Given the description of an element on the screen output the (x, y) to click on. 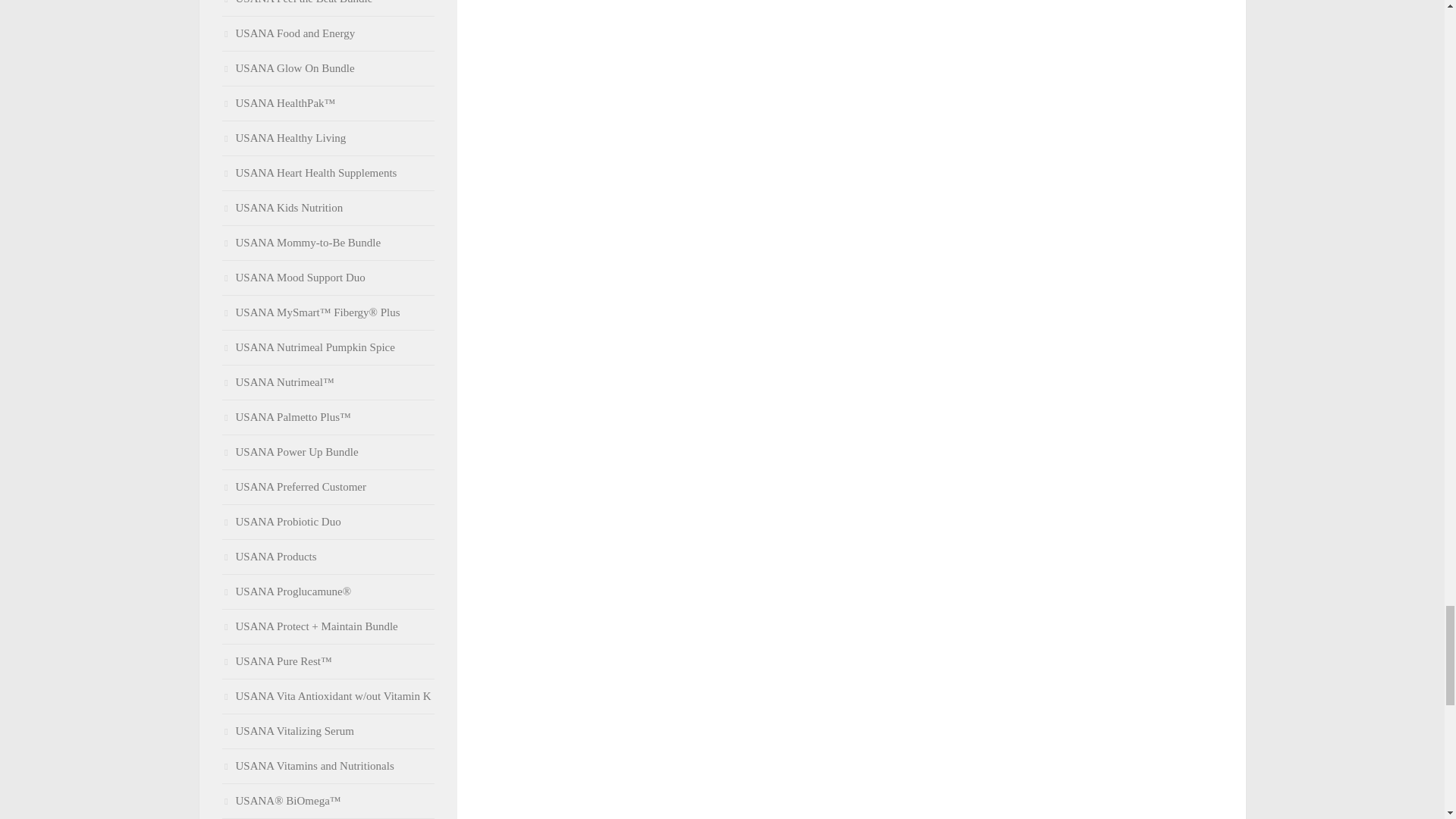
USANA Food and Energy (288, 33)
USANA Healthy Living (283, 137)
